Given the description of an element on the screen output the (x, y) to click on. 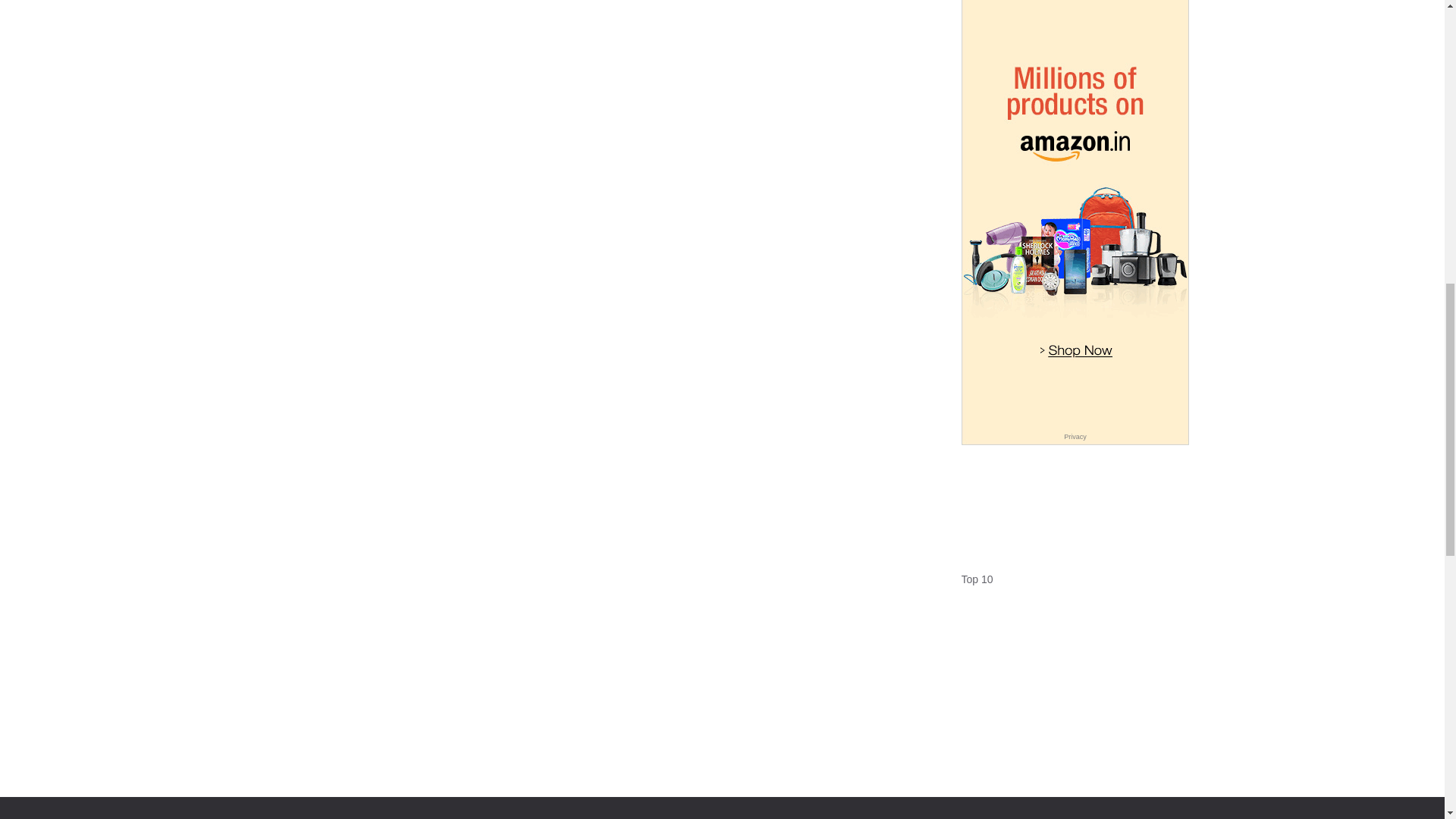
Top 10 (976, 579)
